Given the description of an element on the screen output the (x, y) to click on. 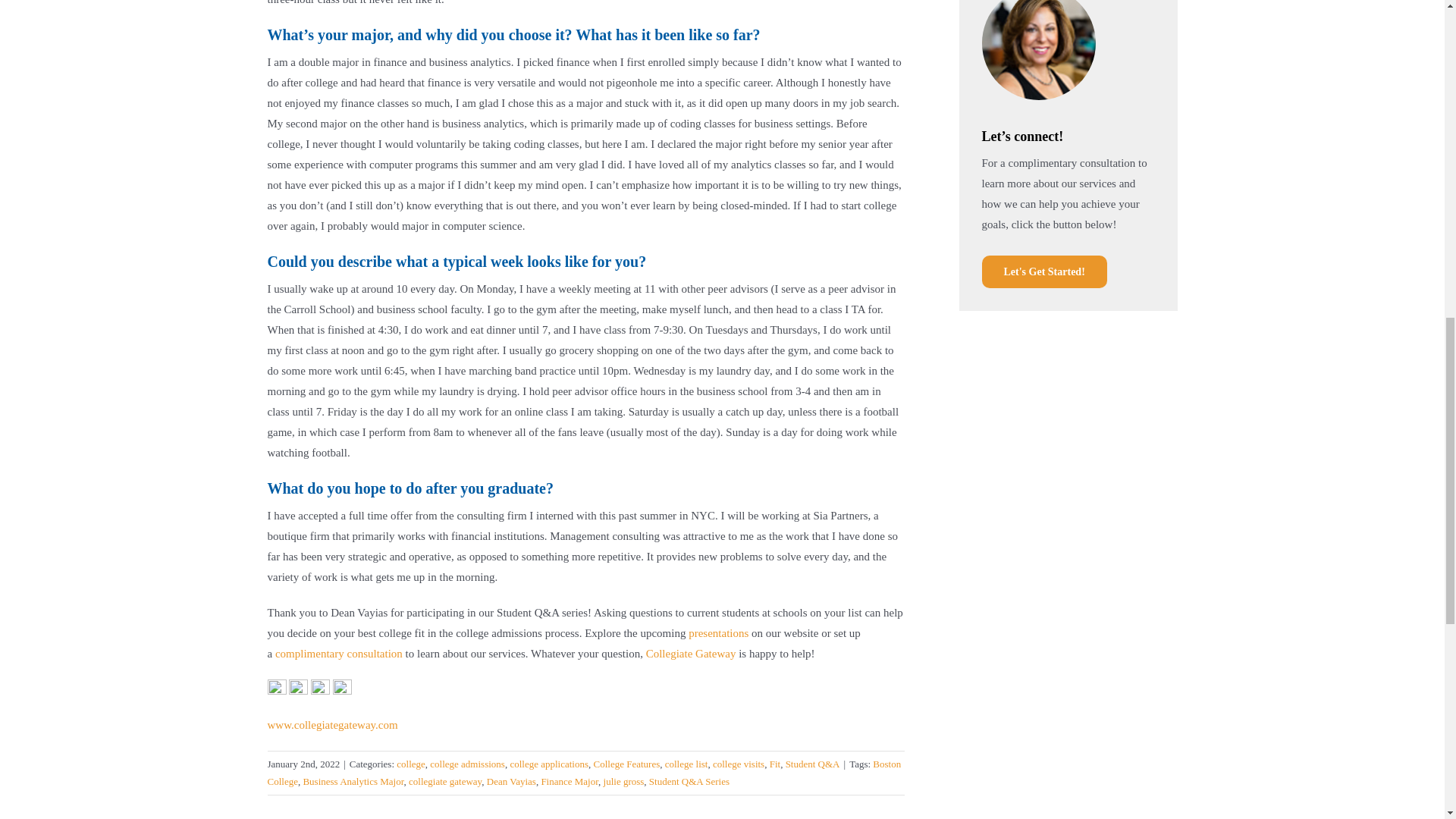
College Features (625, 763)
college admissions (467, 763)
college (410, 763)
college visits (738, 763)
complimentary consultation (339, 653)
college list (686, 763)
Fit (775, 763)
www.collegiategateway.com (331, 725)
presentations (718, 633)
college applications (548, 763)
